Given the description of an element on the screen output the (x, y) to click on. 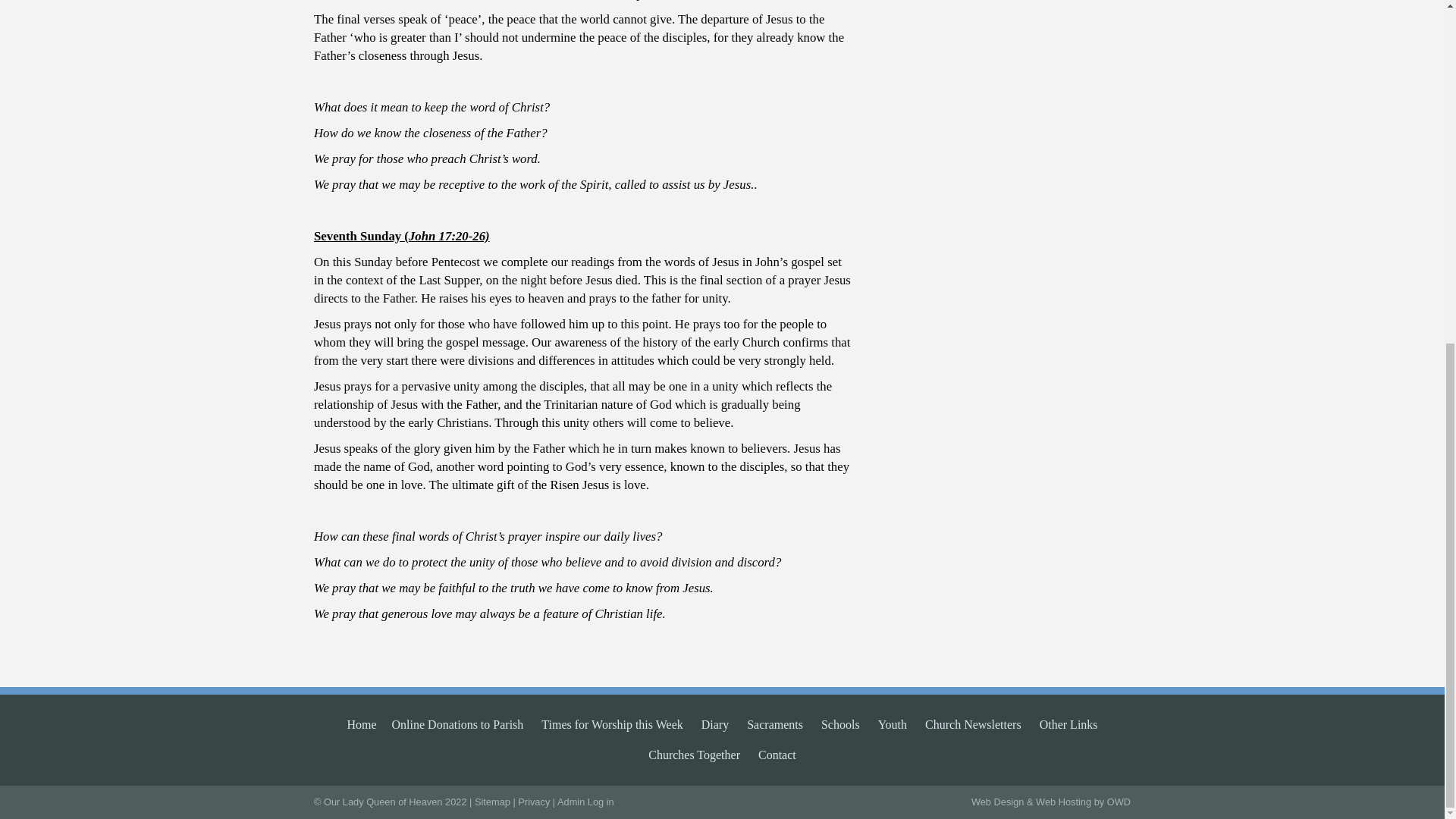
Web Design (997, 801)
Web Hosting (1062, 801)
Times for Worship this Week (611, 724)
Other Links (1068, 724)
Youth (892, 724)
Churches Together (693, 754)
Contact (777, 754)
Log in (601, 801)
Privacy (534, 801)
Sitemap (492, 801)
Online Donations to Parish (457, 724)
Sacraments (774, 724)
Church Newsletters (973, 724)
Home (360, 724)
Diary (715, 724)
